Given the description of an element on the screen output the (x, y) to click on. 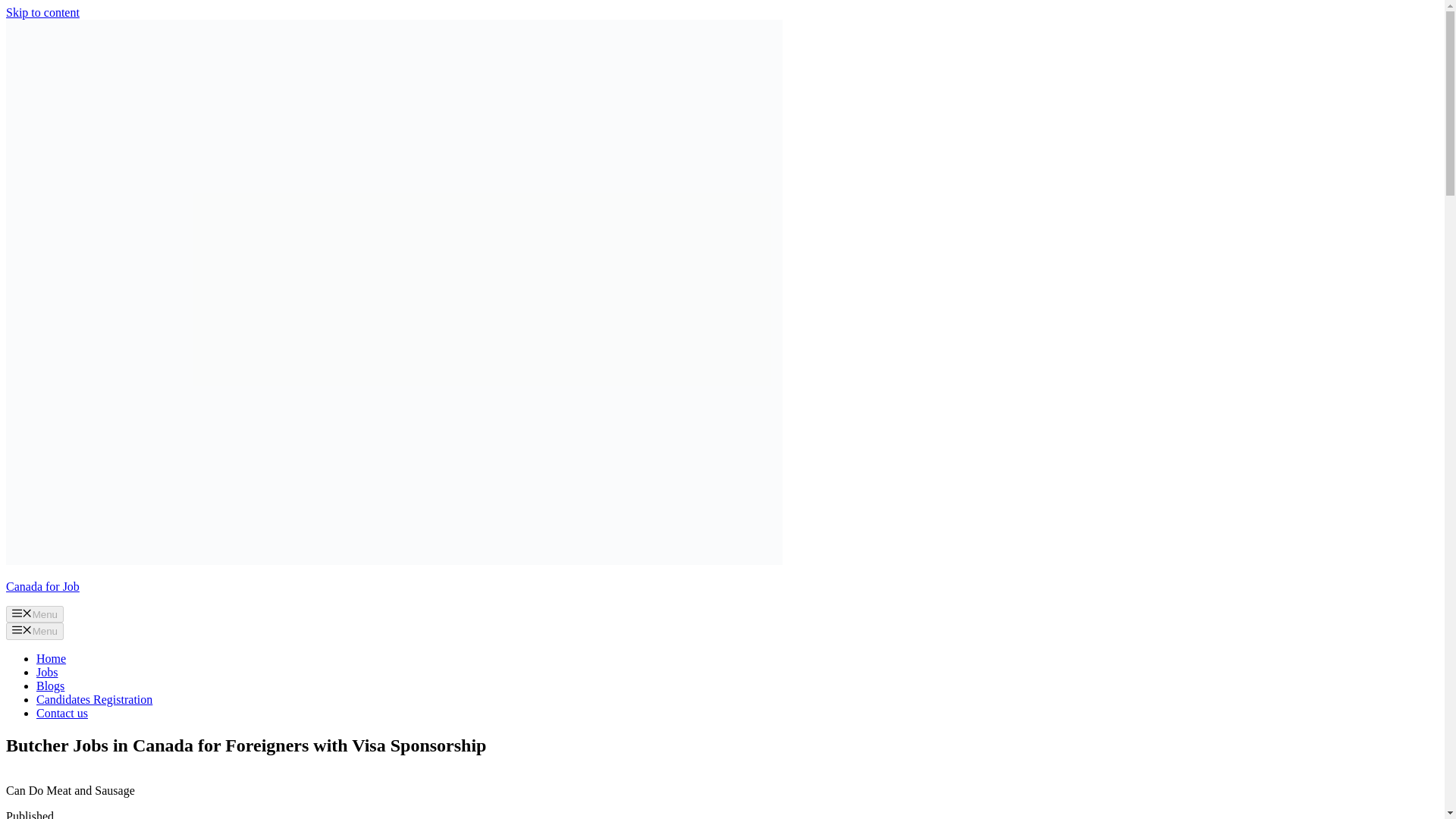
Home (50, 658)
Contact us (61, 712)
Skip to content (42, 11)
Skip to content (42, 11)
Candidates Registration (94, 698)
Menu (34, 614)
Menu (34, 630)
Jobs (47, 671)
Blogs (50, 685)
Canada for Job (42, 585)
